Given the description of an element on the screen output the (x, y) to click on. 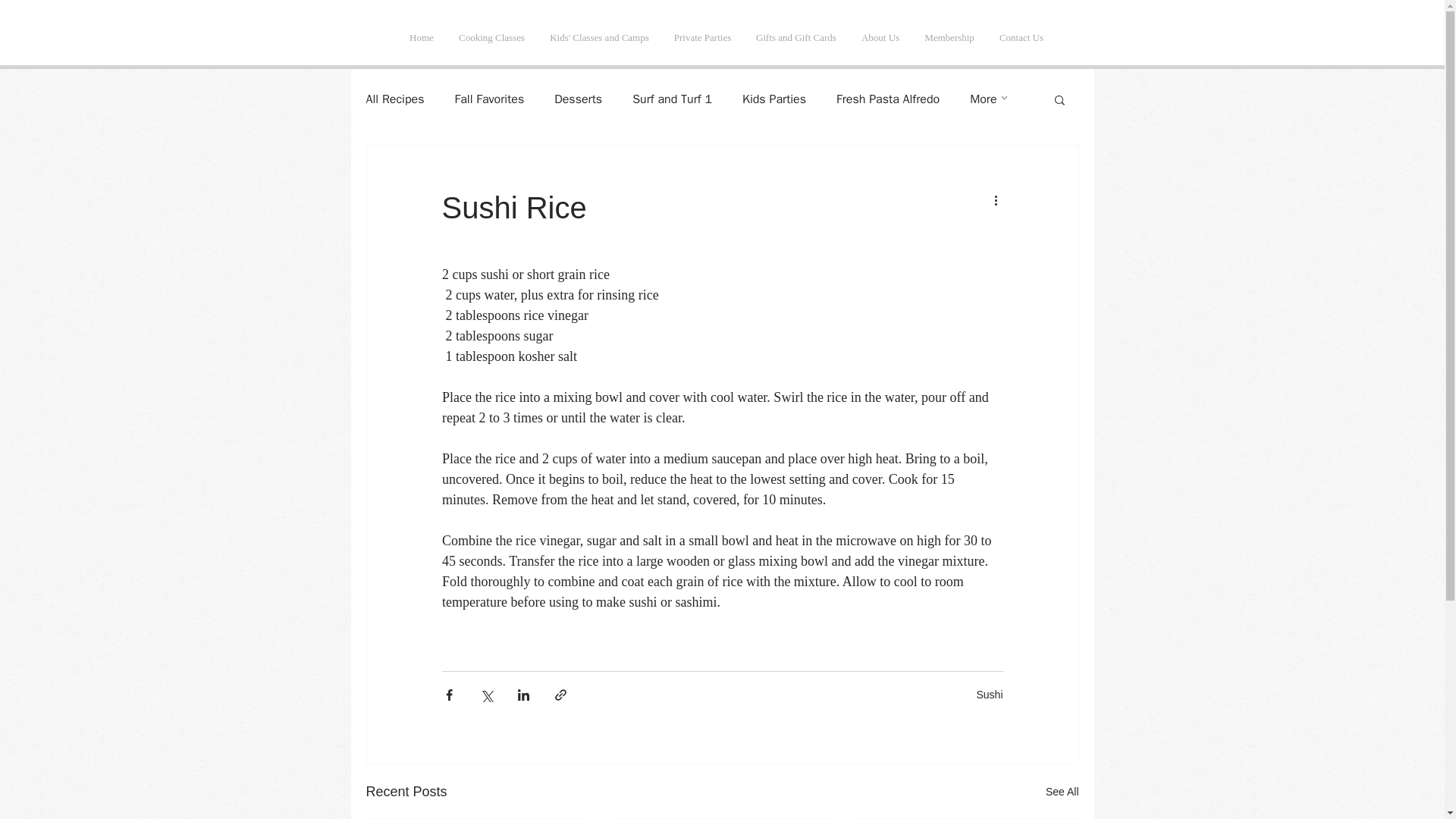
Sushi (989, 694)
Fall Favorites (489, 98)
Private Parties (701, 37)
Surf and Turf 1 (671, 98)
Fresh Pasta Alfredo (887, 98)
Kids Parties (774, 98)
See All (1061, 792)
Cooking Classes (491, 37)
About Us (880, 37)
Membership (949, 37)
